Given the description of an element on the screen output the (x, y) to click on. 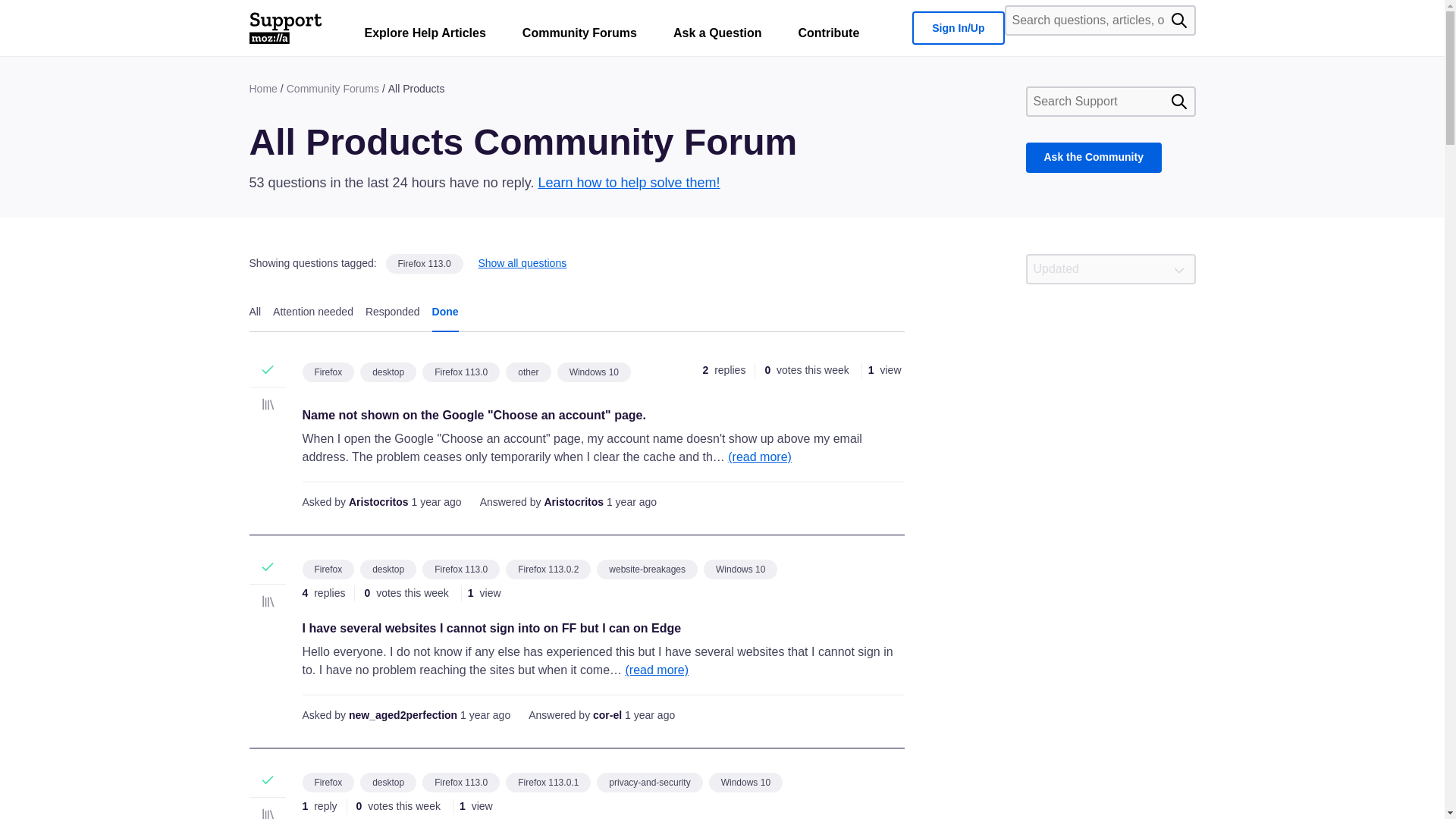
Search (1178, 101)
Explore Help Articles (424, 37)
Ask a Question (716, 37)
Search (1178, 20)
Community Forums (579, 37)
